Given the description of an element on the screen output the (x, y) to click on. 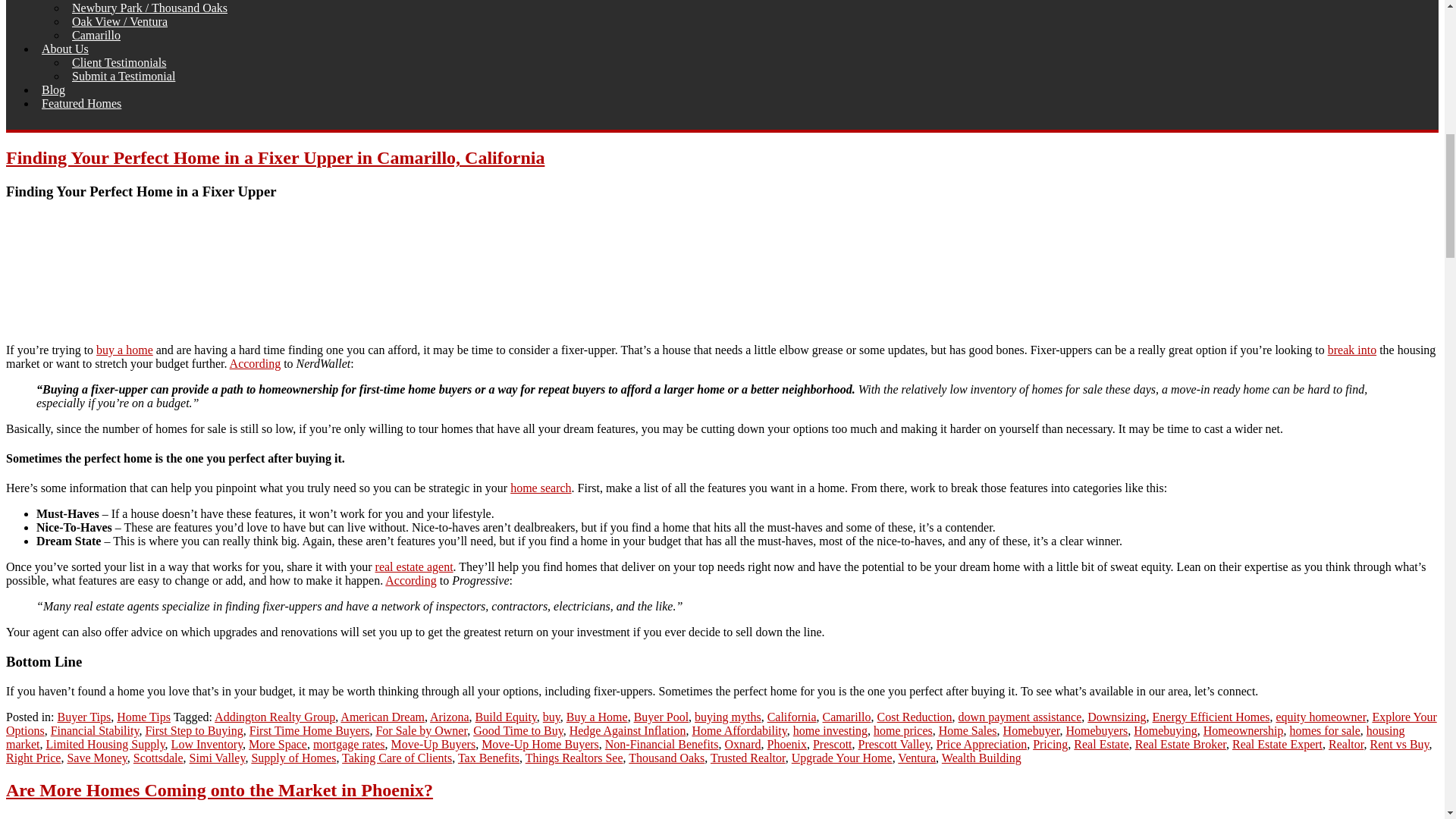
Submit a Testimonial (123, 75)
Featured Homes (81, 103)
According (410, 580)
break into (1351, 349)
Blog (52, 89)
home search (540, 487)
Are More Homes Coming onto the Market in Phoenix? (218, 790)
About Us (65, 48)
Client Testimonials (118, 62)
real estate agent (413, 566)
Wildomar (95, 2)
Home Tips (143, 716)
buy a home (124, 349)
